Given the description of an element on the screen output the (x, y) to click on. 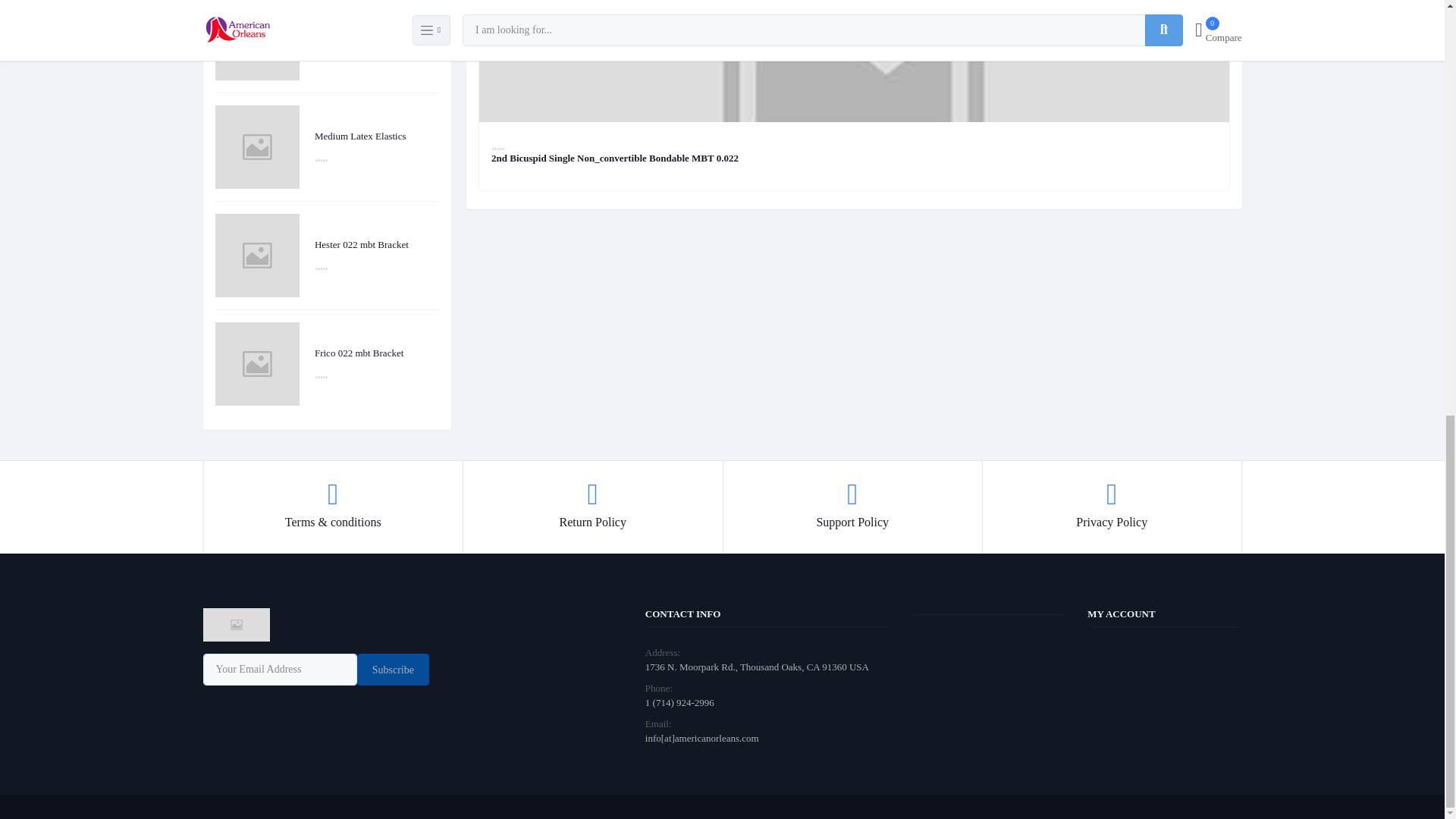
Support Policy (851, 507)
Medium Latex Elastics (376, 136)
Frico 022 mbt Bracket (376, 353)
Return Policy (592, 507)
Privacy Policy (1111, 507)
Subscribe (392, 669)
Hester 022 mbt Bracket (376, 244)
